Given the description of an element on the screen output the (x, y) to click on. 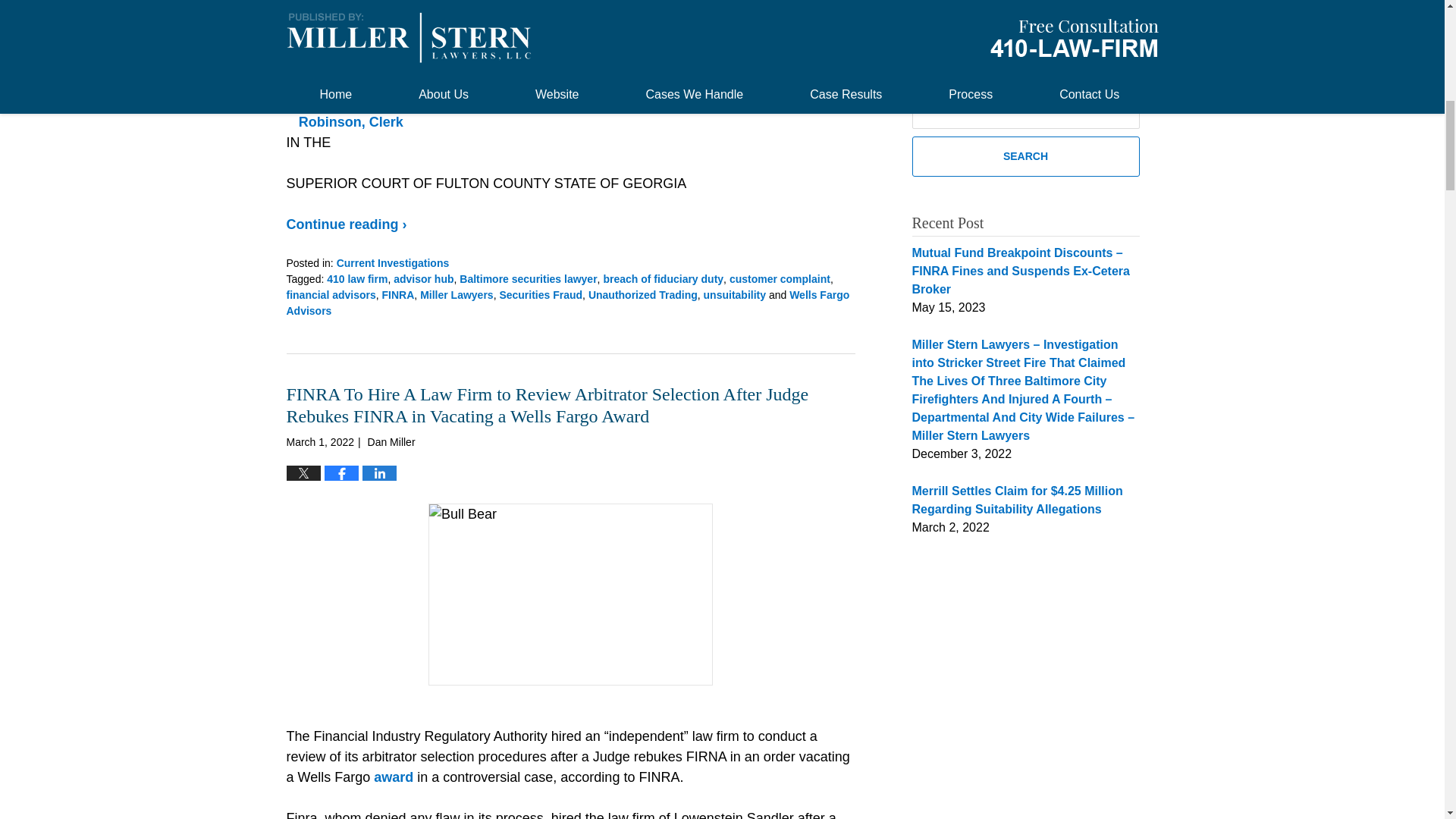
Current Investigations (392, 263)
advisor hub (422, 278)
410 law firm (356, 278)
